Given the description of an element on the screen output the (x, y) to click on. 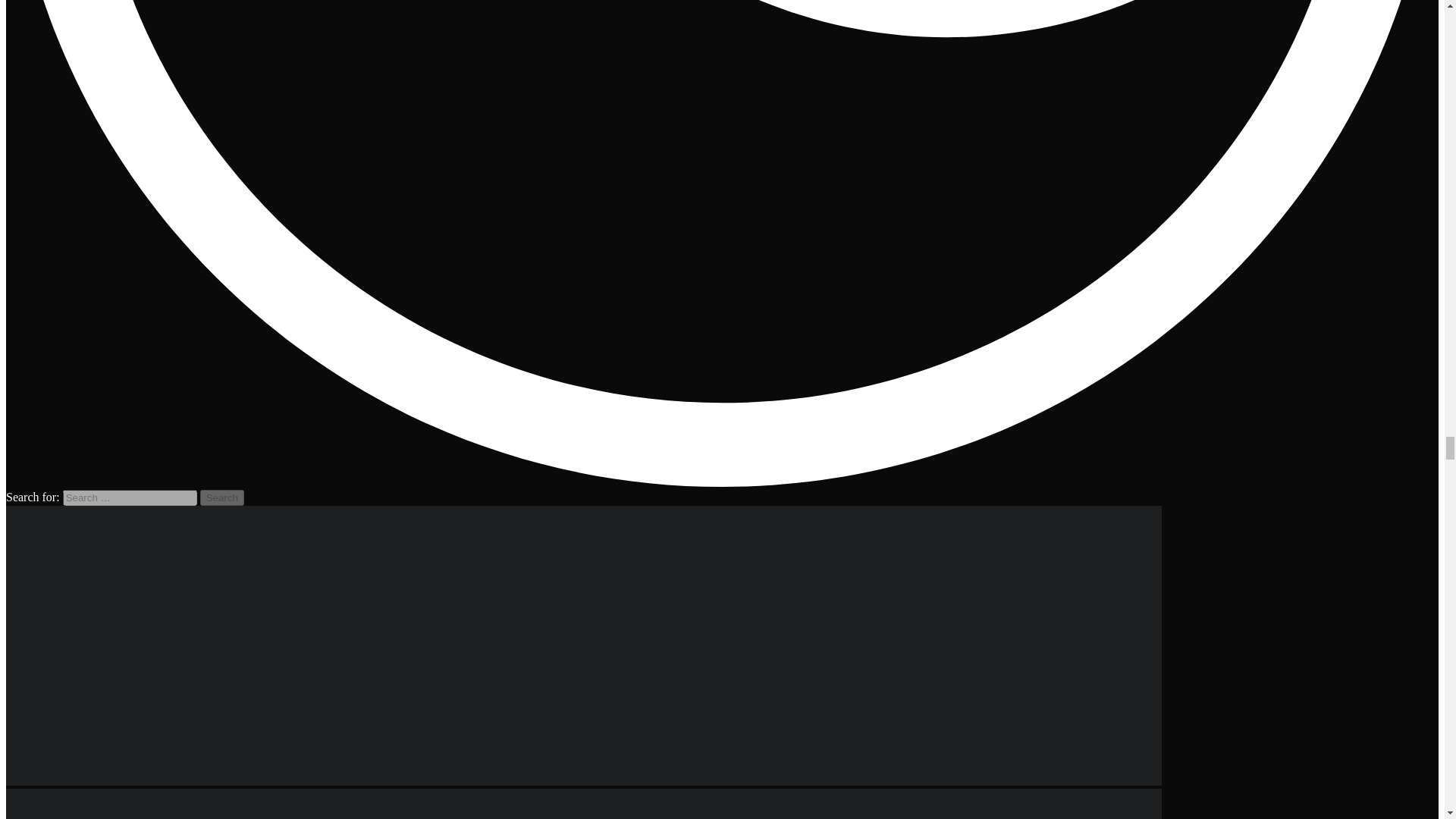
Search (222, 497)
Search (222, 497)
